Given the description of an element on the screen output the (x, y) to click on. 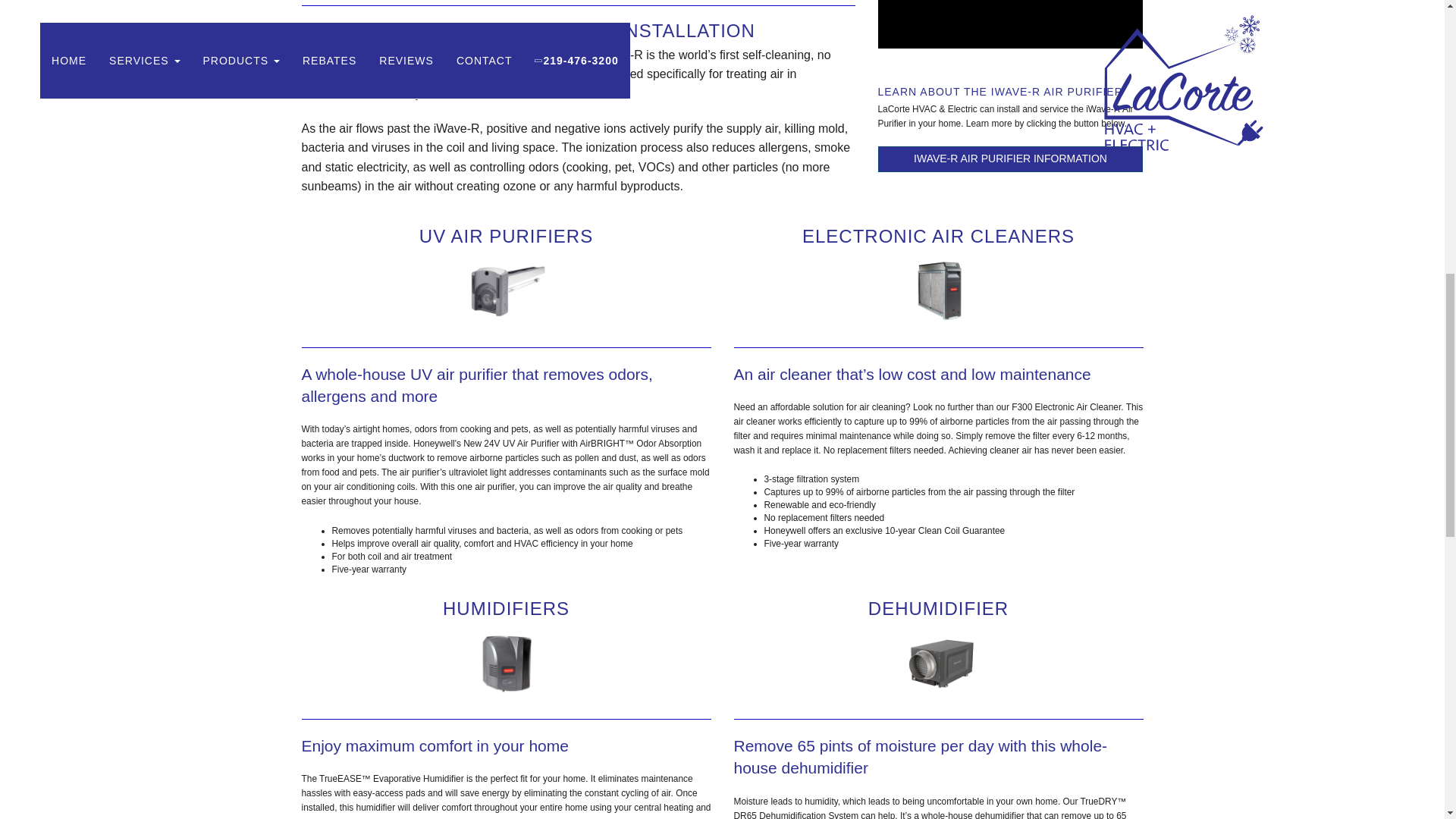
IWAVE-R AIR PURIFIER INFORMATION (1009, 158)
